Given the description of an element on the screen output the (x, y) to click on. 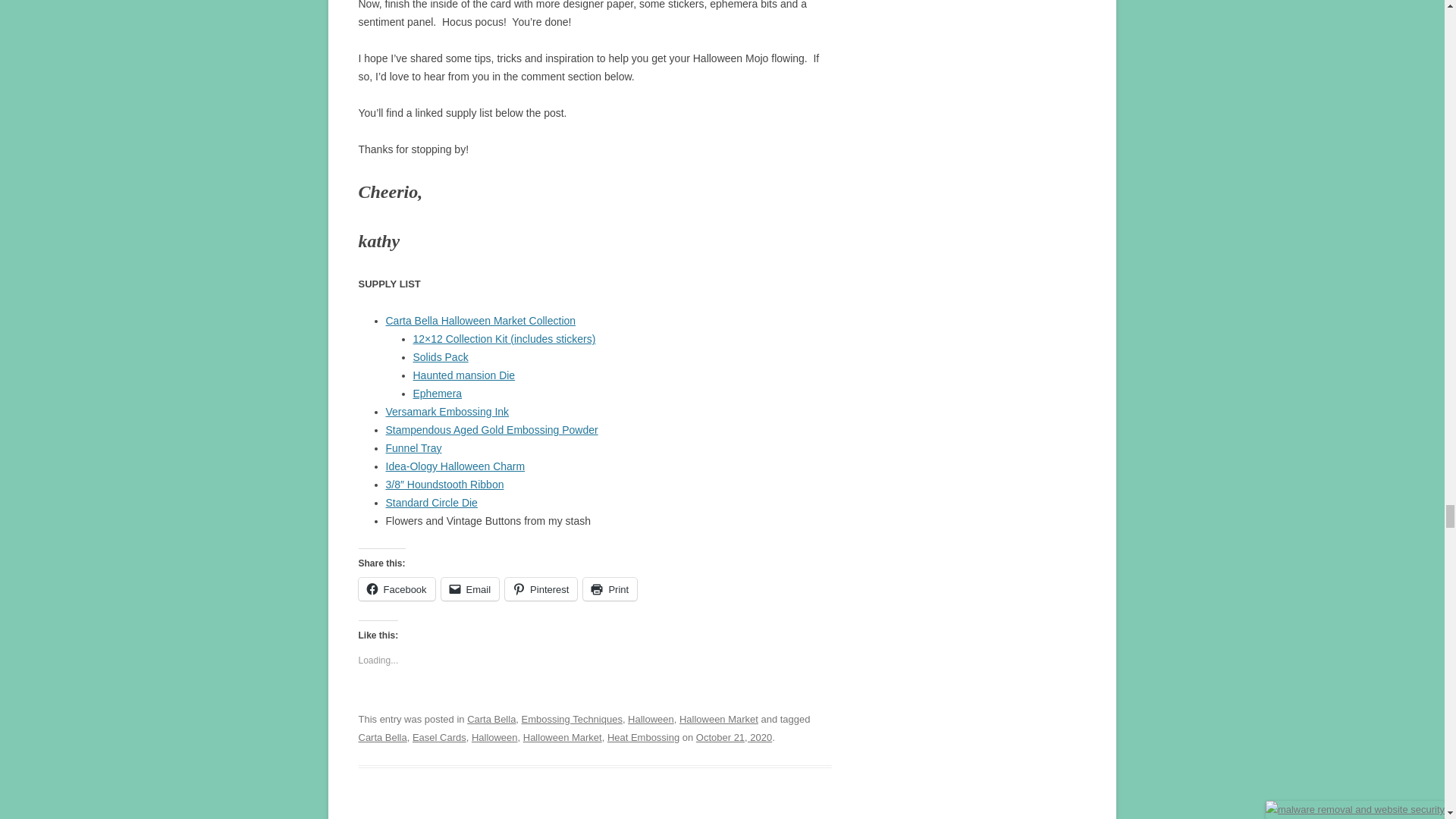
Click to share on Pinterest (540, 589)
6:00 AM (733, 737)
Click to print (610, 589)
Click to share on Facebook (395, 589)
Click to email a link to a friend (470, 589)
